Given the description of an element on the screen output the (x, y) to click on. 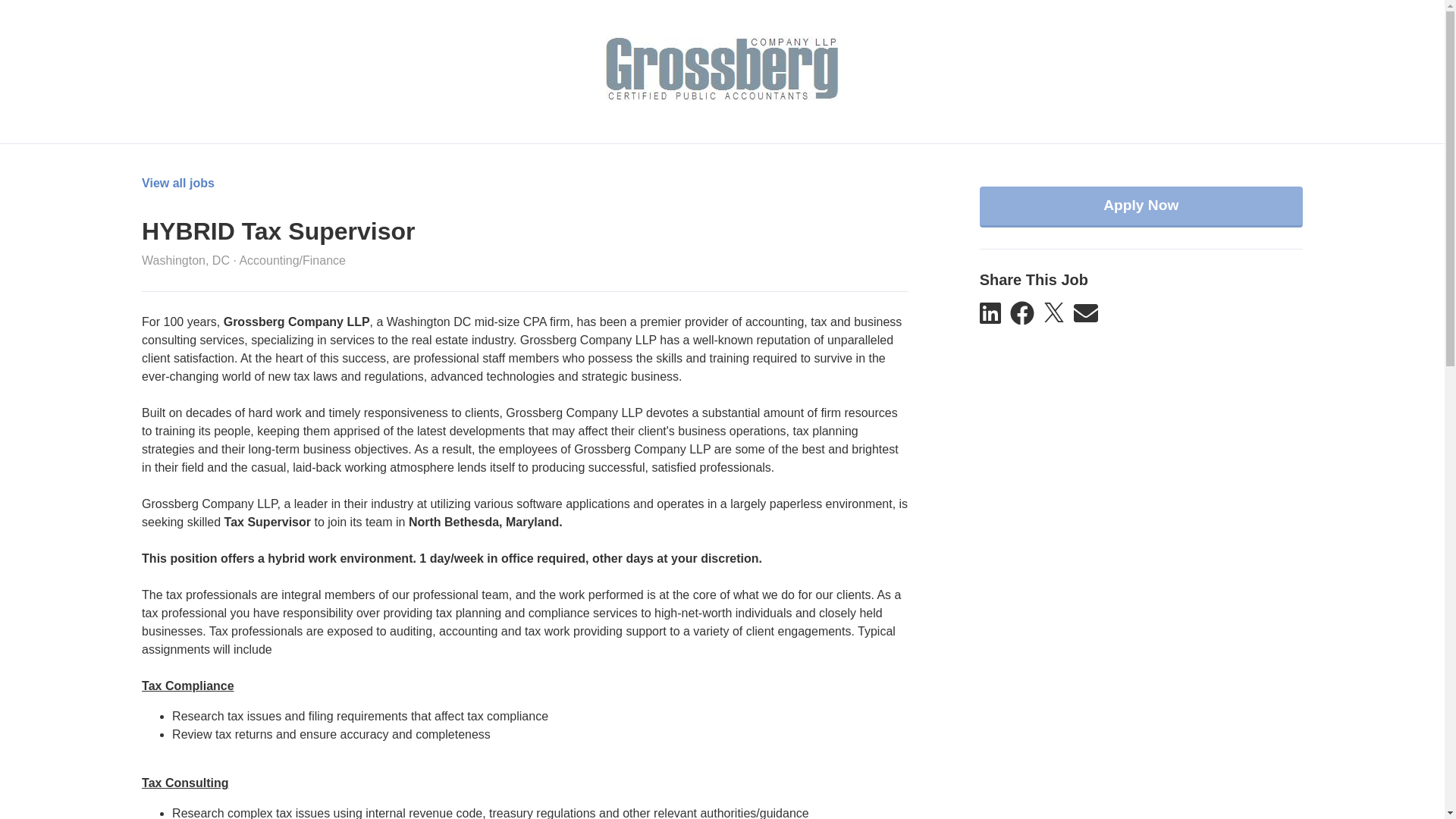
View all jobs (177, 183)
Apply Now (1141, 206)
